Given the description of an element on the screen output the (x, y) to click on. 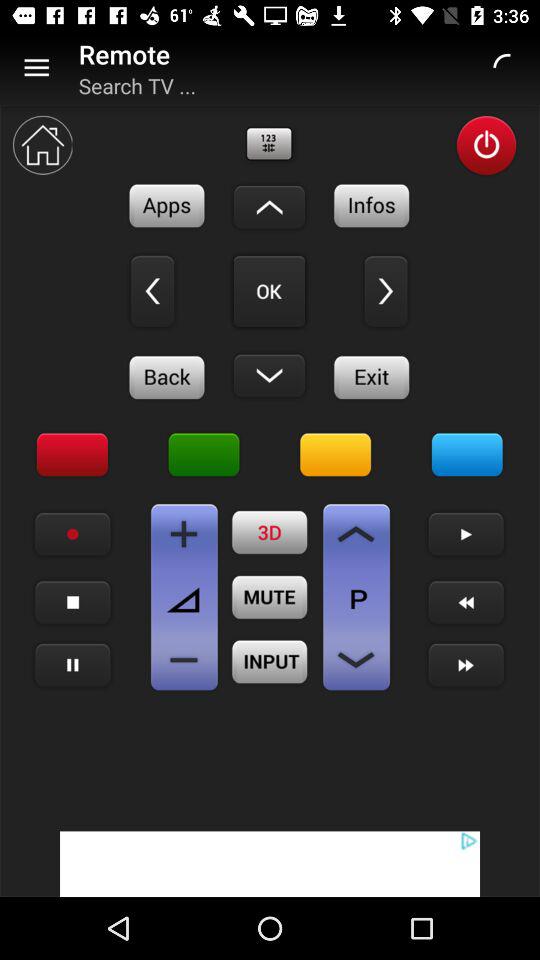
down arrow remote option (269, 375)
